Given the description of an element on the screen output the (x, y) to click on. 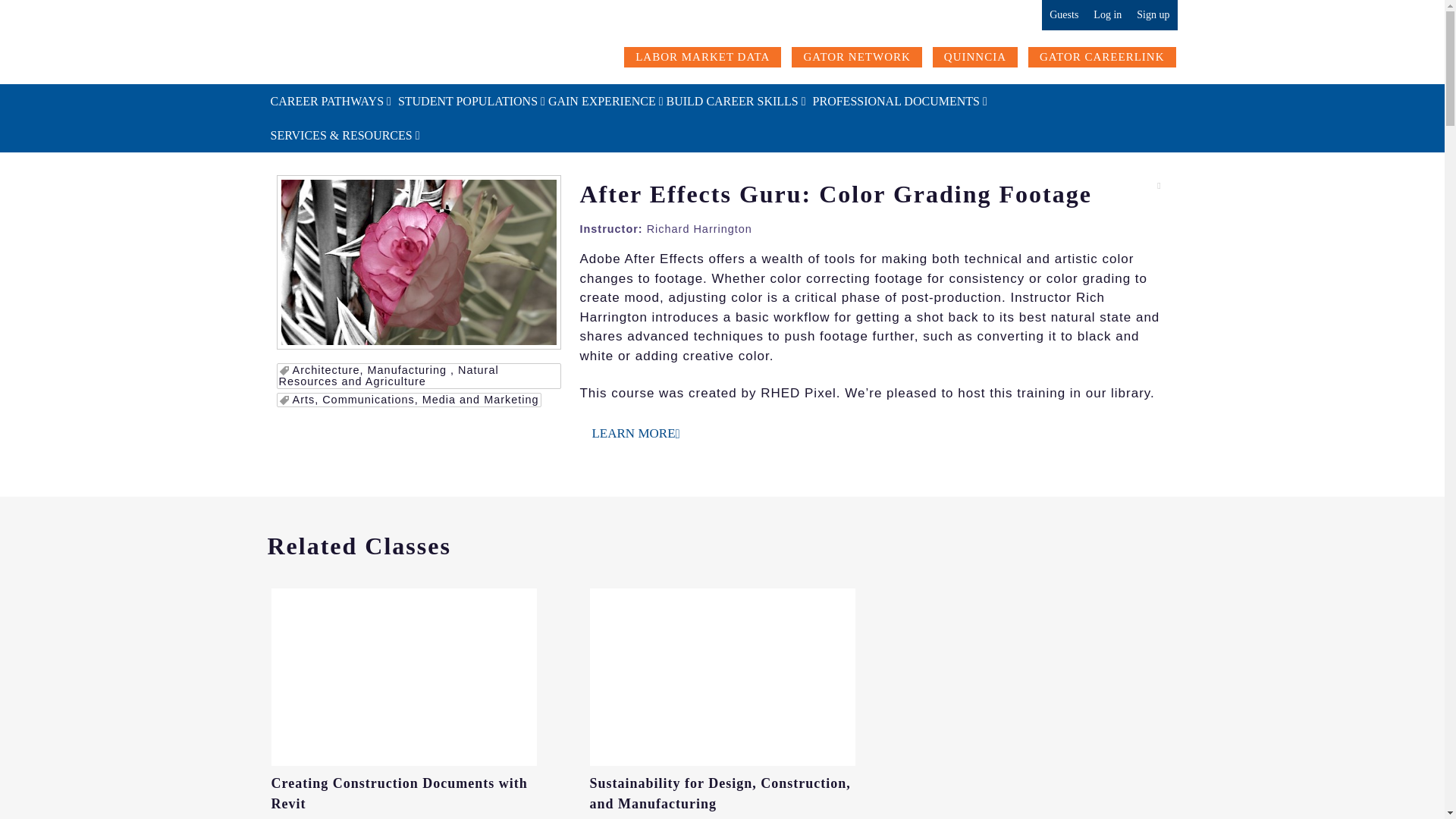
LABOR MARKET DATA (703, 56)
GATOR NETWORK (856, 56)
CAREER PATHWAYS (330, 100)
Log in (1107, 15)
BUILD CAREER SKILLS (735, 100)
STUDENT POPULATIONS (465, 100)
GATOR CAREERLINK (1101, 56)
GAIN EXPERIENCE (600, 100)
QUINNCIA (975, 56)
Submit Search (63, 12)
